Given the description of an element on the screen output the (x, y) to click on. 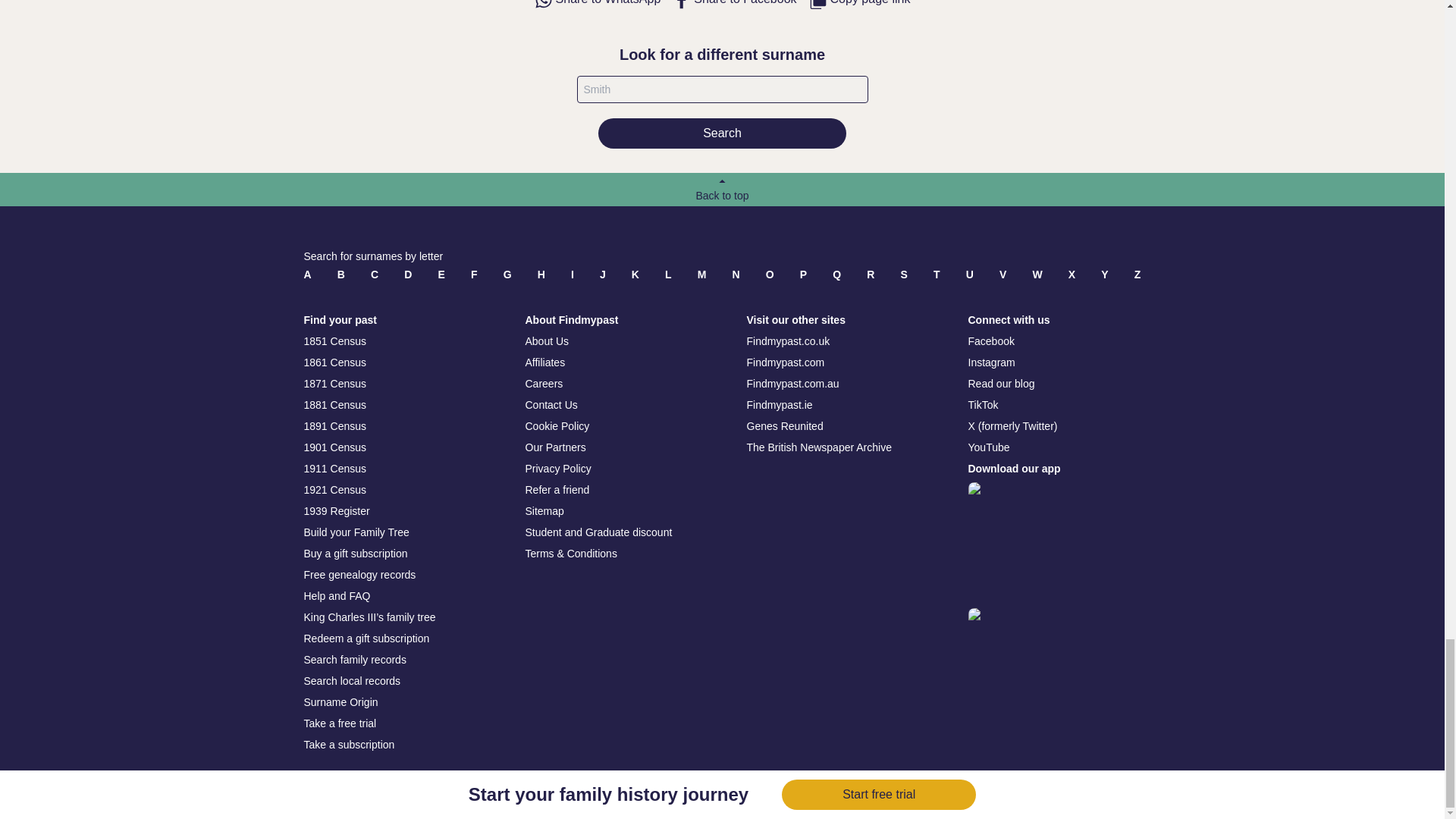
Share to WhatsApp (597, 4)
Copy page link (860, 4)
Search (721, 132)
Share to Facebook (734, 4)
